Given the description of an element on the screen output the (x, y) to click on. 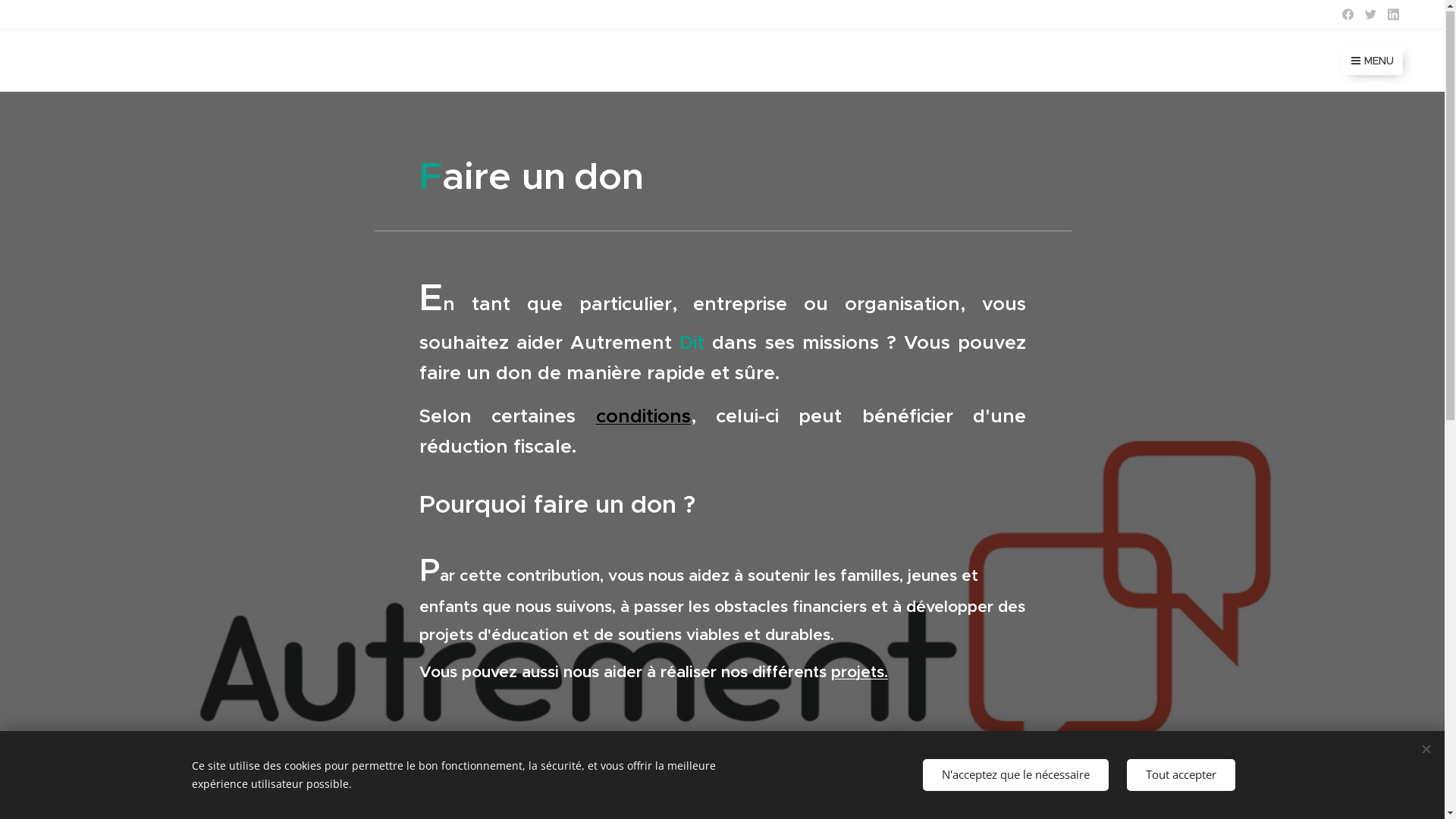
Tout accepter Element type: text (1180, 774)
Twitter Element type: hover (1370, 15)
conditions Element type: text (642, 416)
Linkedin Element type: hover (1392, 15)
Facebook Element type: hover (1347, 15)
projets. Element type: text (859, 672)
MENU Element type: text (1372, 61)
